Given the description of an element on the screen output the (x, y) to click on. 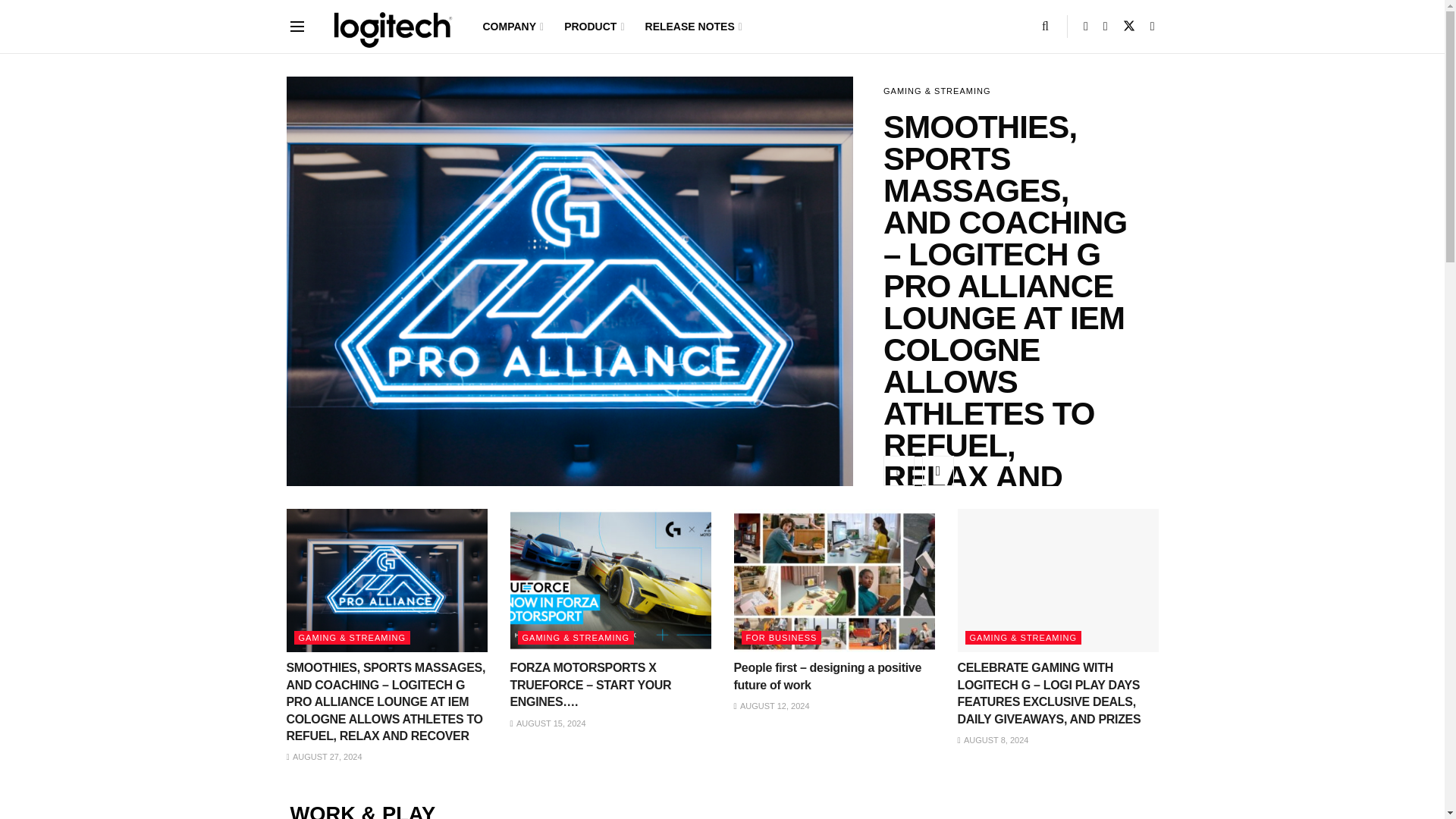
logi BLOG (388, 25)
COMPANY (511, 26)
PRODUCT (592, 26)
RELEASE NOTES (692, 26)
